Given the description of an element on the screen output the (x, y) to click on. 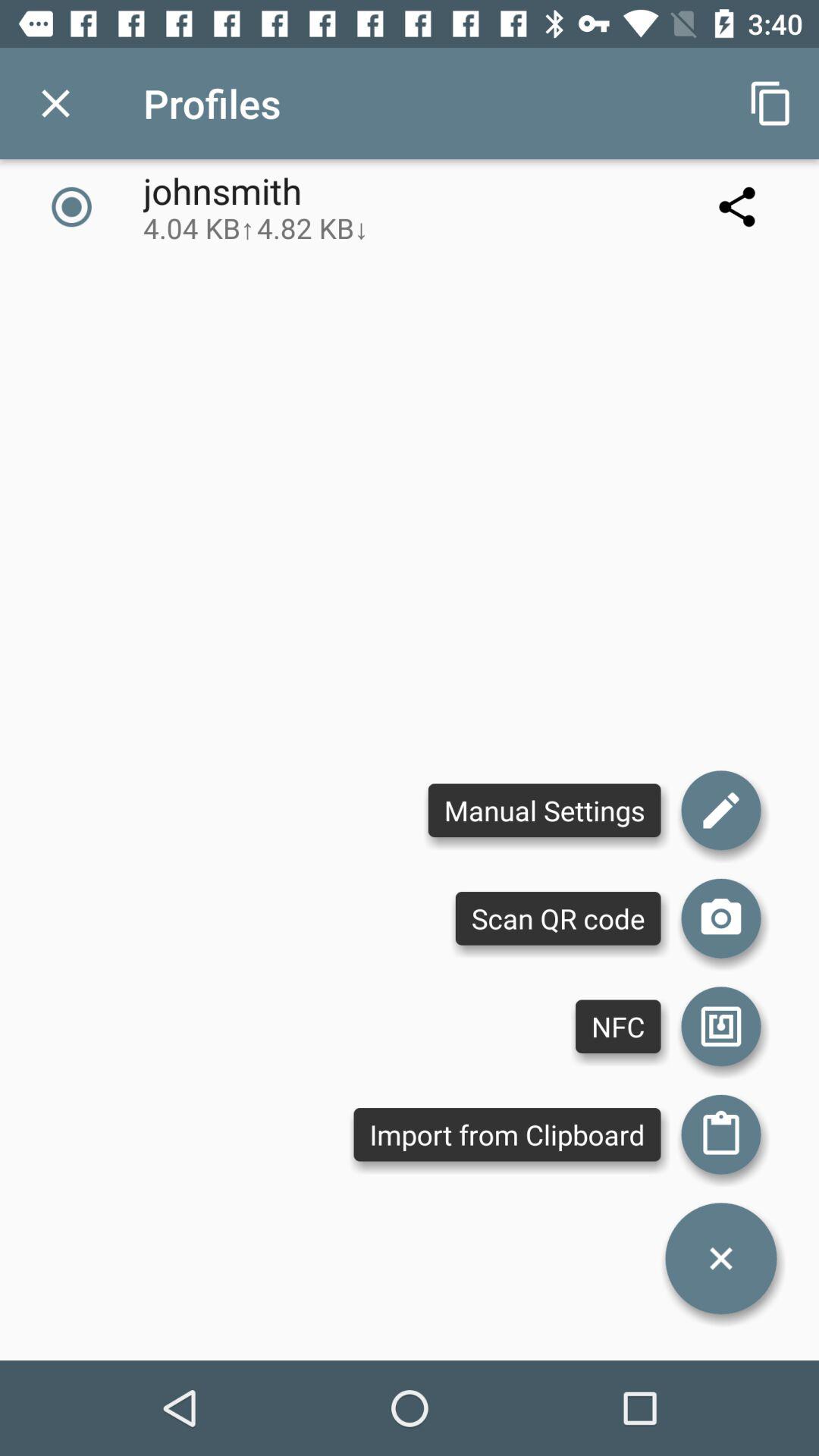
scan qr code (721, 918)
